Given the description of an element on the screen output the (x, y) to click on. 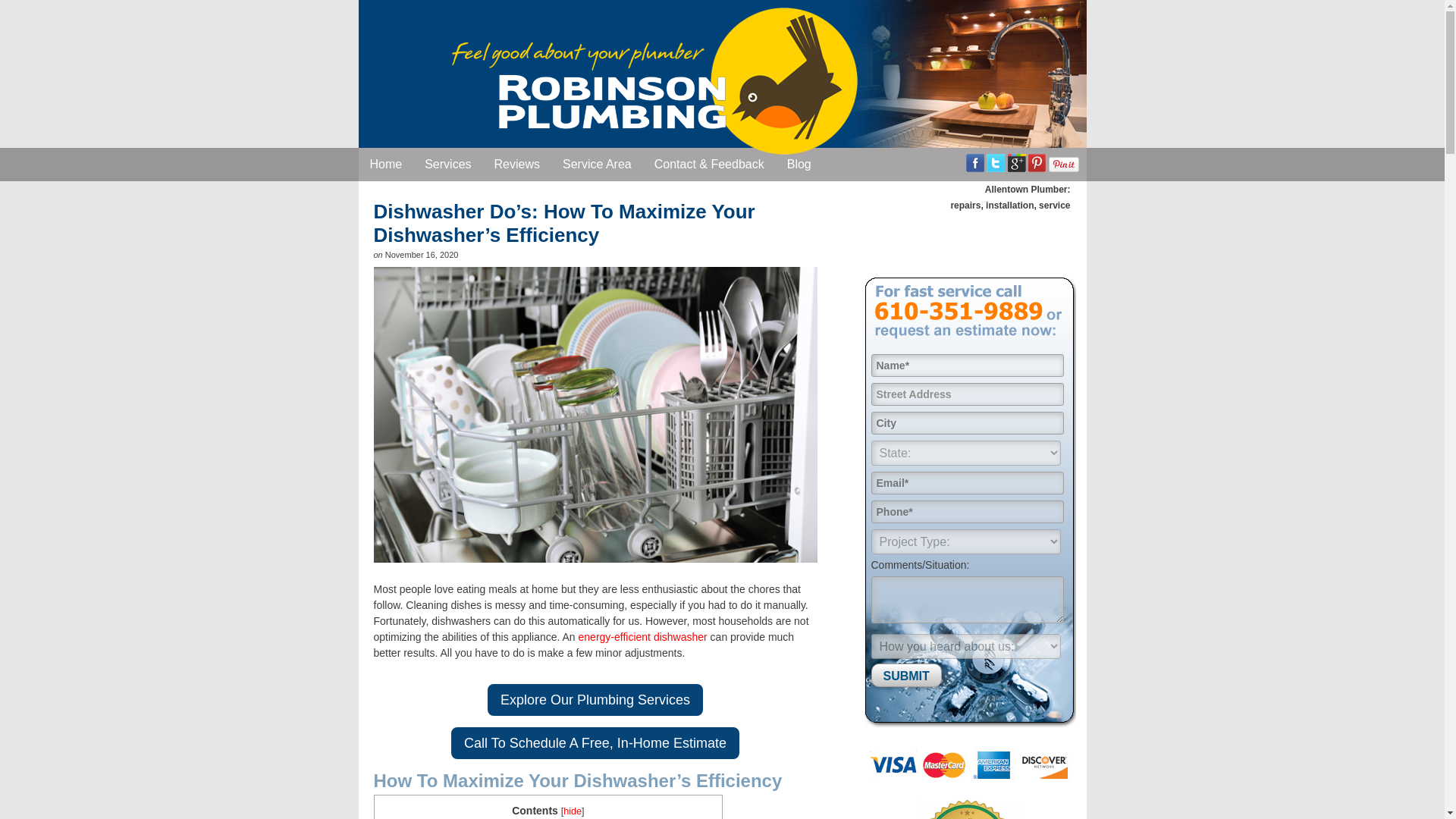
twitter (995, 162)
Street Address (966, 394)
Services (447, 164)
facebook (975, 162)
Reviews (517, 164)
pin-it (1063, 164)
Home (385, 164)
Blog (799, 164)
Call To Schedule A Free, In-Home Estimate (595, 743)
Service Area (597, 164)
Explore Our Plumbing Services (595, 699)
pinterest (1036, 162)
hide (571, 810)
2020-11-16T05:44:44-0500 (421, 254)
energy-efficient dishwasher (642, 636)
